Given the description of an element on the screen output the (x, y) to click on. 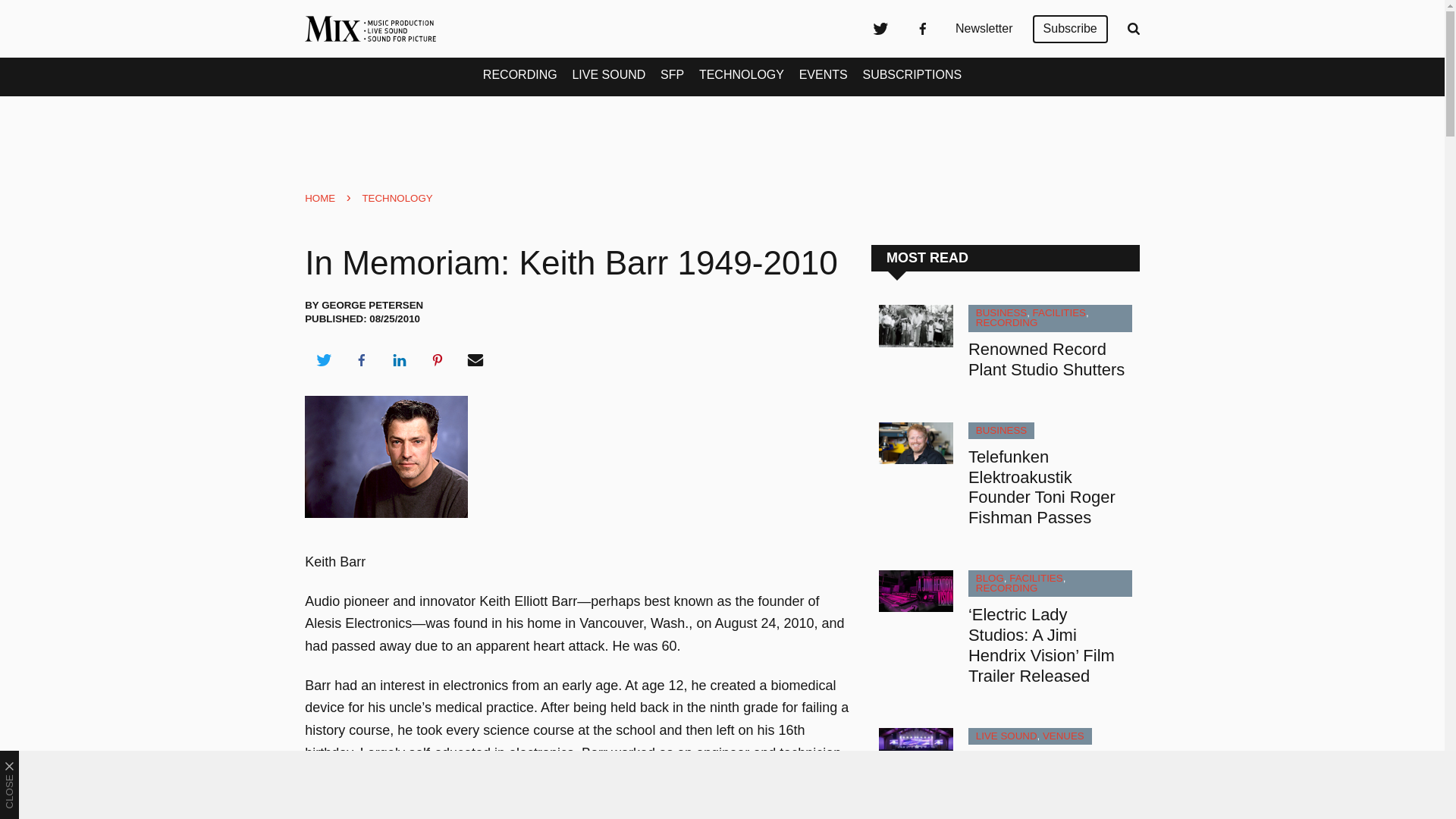
Share on Twitter (323, 360)
Share on Facebook (361, 360)
Share via Email (476, 360)
Share on Pinterest (438, 360)
Share on LinkedIn (399, 360)
